Given the description of an element on the screen output the (x, y) to click on. 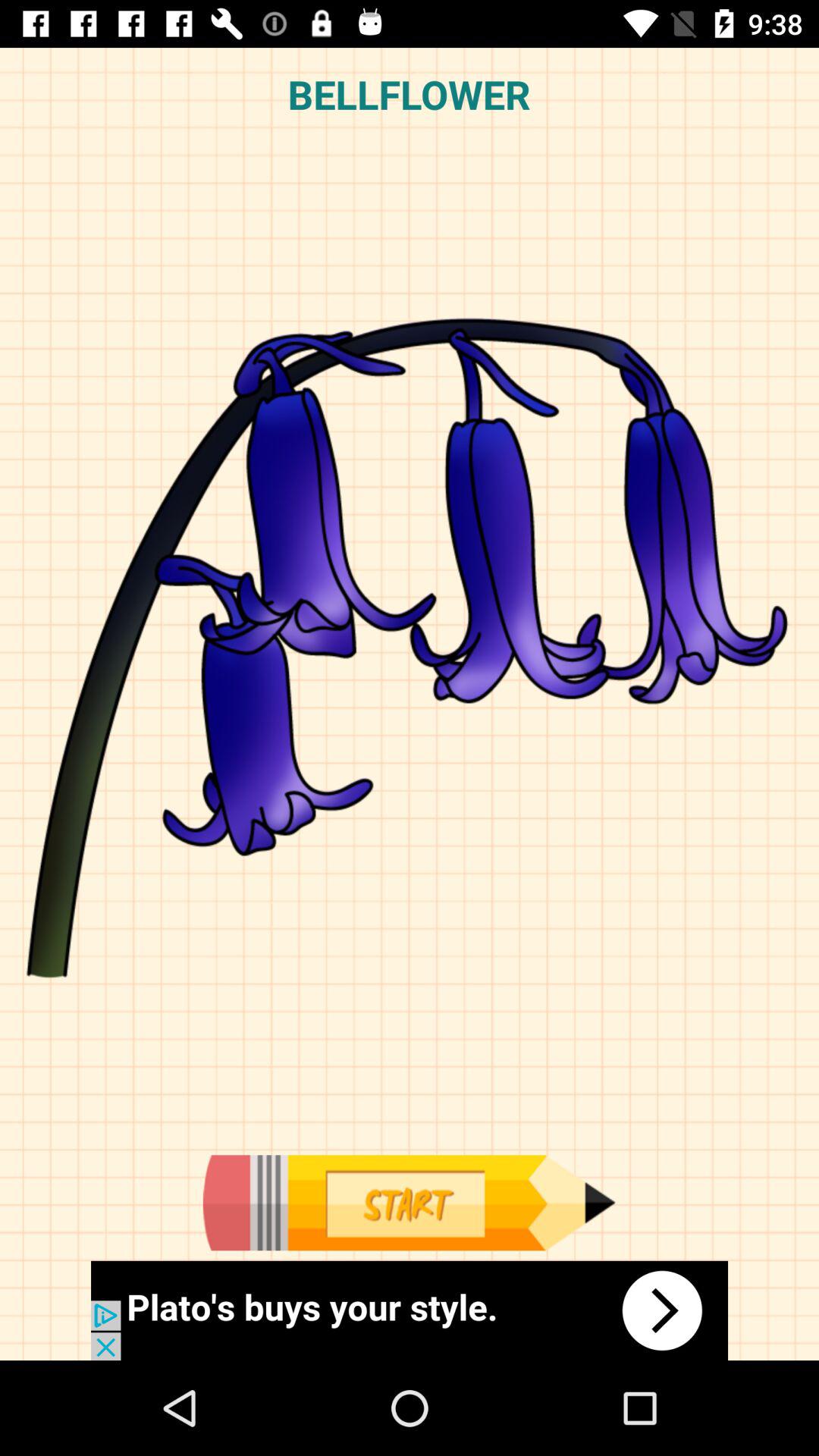
start pencil icon button (409, 1202)
